Given the description of an element on the screen output the (x, y) to click on. 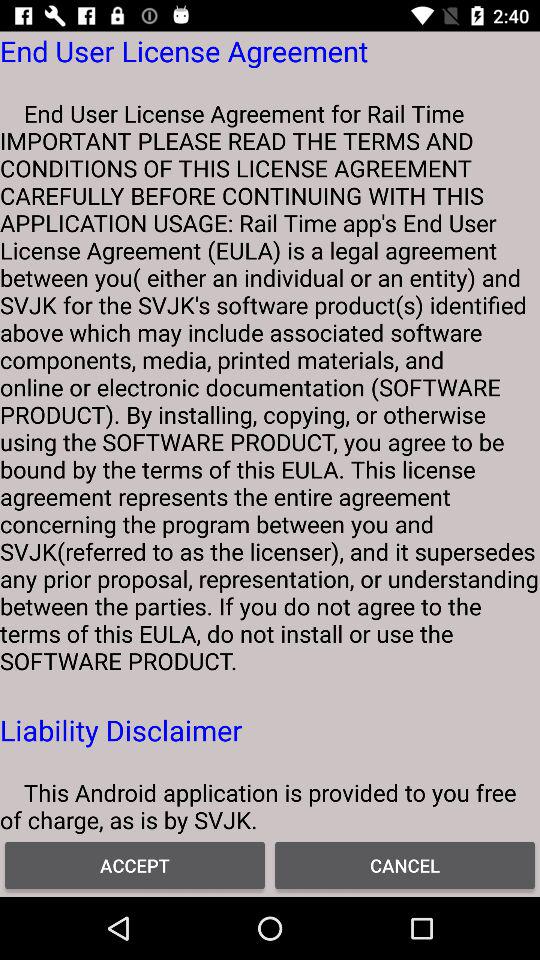
choose icon next to accept (405, 864)
